Given the description of an element on the screen output the (x, y) to click on. 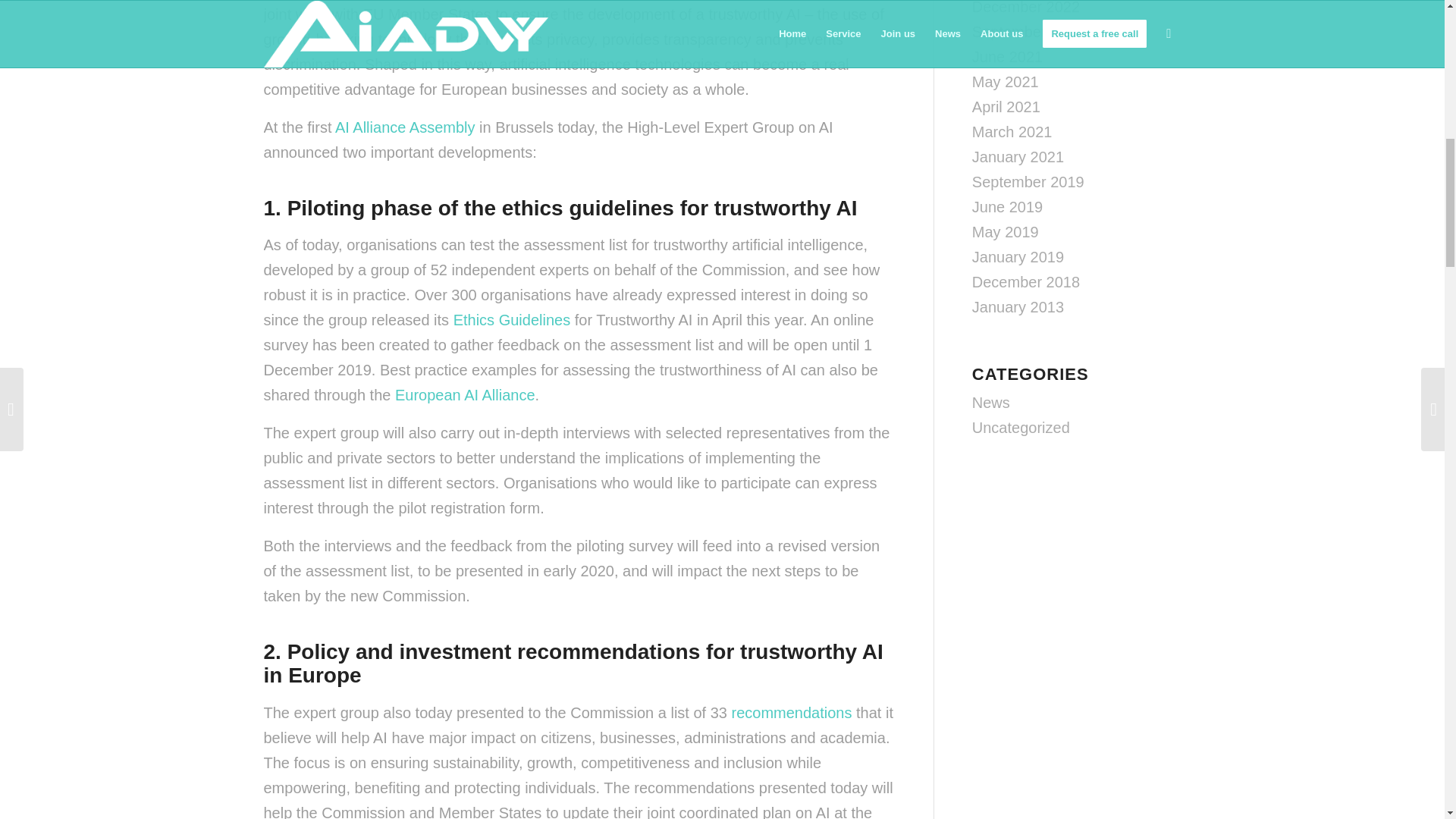
AI Alliance Assembly (405, 126)
European AI Alliance (464, 394)
Ethics Guidelines (511, 320)
recommendations (791, 712)
